Given the description of an element on the screen output the (x, y) to click on. 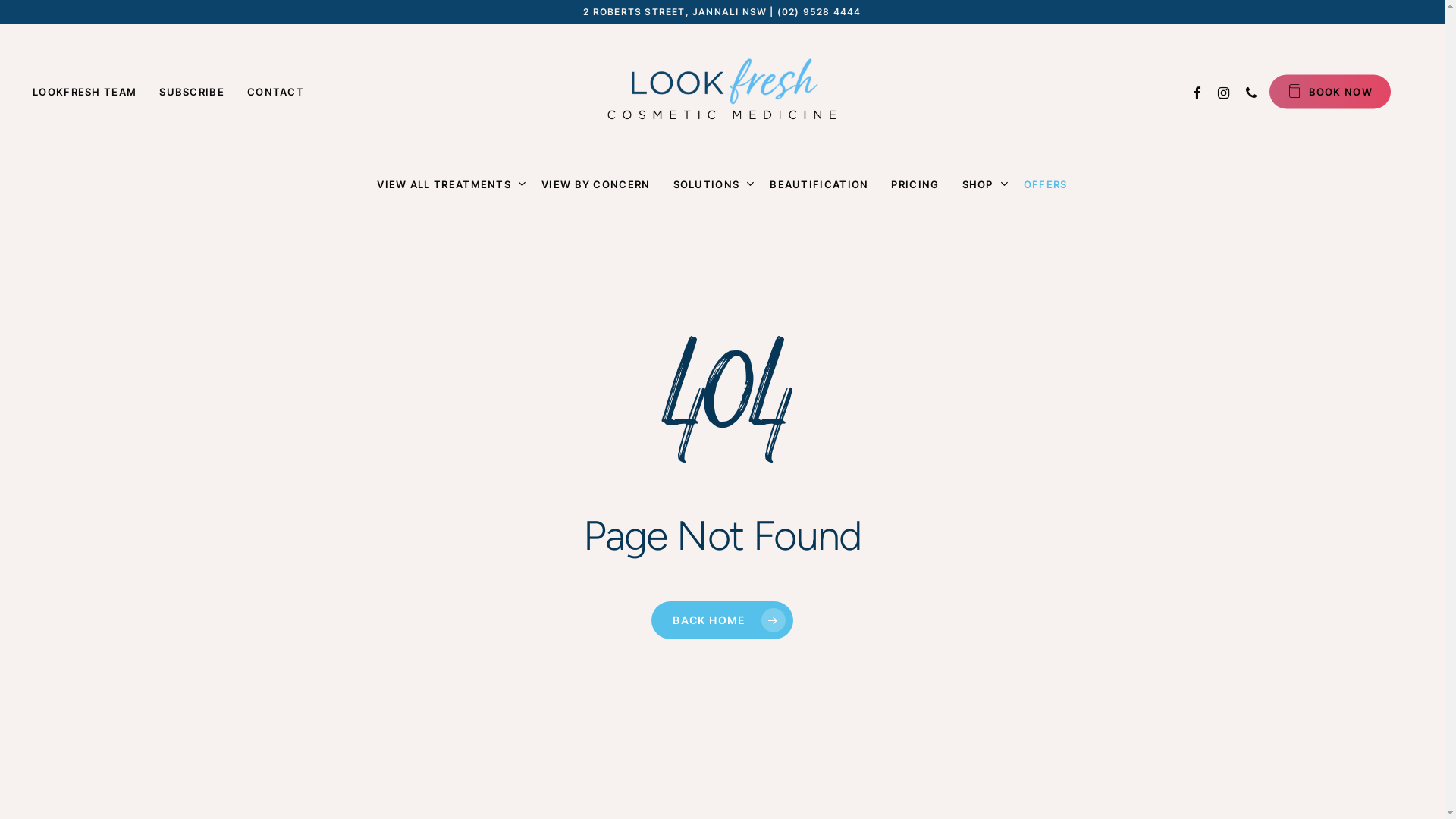
VIEW ALL TREATMENTS Element type: text (447, 184)
SHOP Element type: text (981, 184)
PHONE Element type: text (1250, 91)
BOOK NOW Element type: text (1330, 91)
CONTACT Element type: text (275, 91)
BACK HOME Element type: text (722, 620)
VIEW BY CONCERN Element type: text (595, 184)
SOLUTIONS Element type: text (710, 184)
FACEBOOK Element type: text (1196, 91)
BEAUTIFICATION Element type: text (818, 184)
EMAIL Element type: text (1278, 91)
2 ROBERTS STREET, JANNALI NSW | (02) 9528 4444 Element type: text (721, 11)
PRICING Element type: text (914, 184)
INSTAGRAM Element type: text (1223, 91)
OFFERS Element type: text (1045, 184)
LOOKFRESH TEAM Element type: text (84, 91)
SUBSCRIBE Element type: text (191, 91)
